Given the description of an element on the screen output the (x, y) to click on. 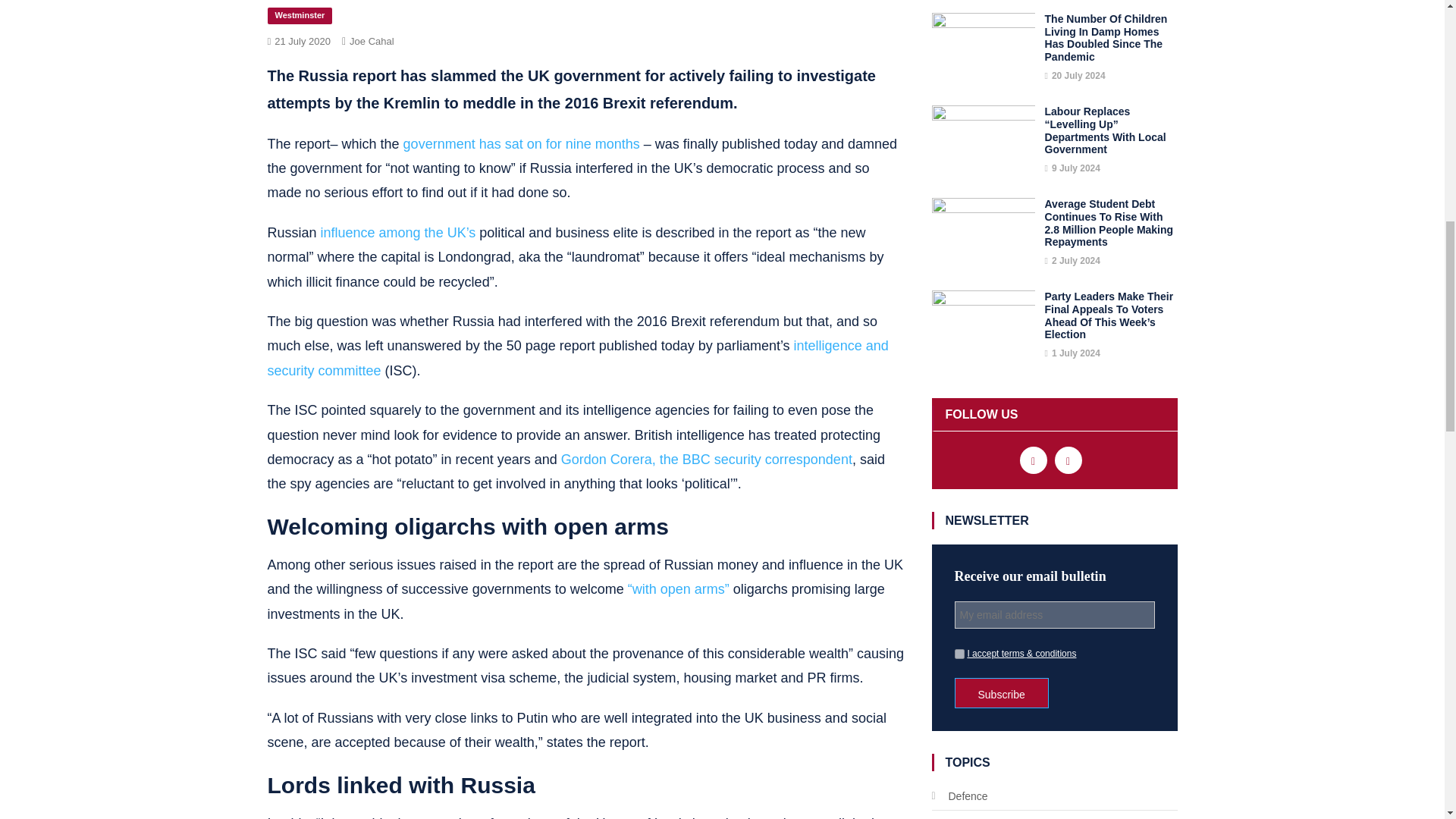
intelligence and security committee (577, 357)
Westminster (298, 15)
1 (958, 654)
Gordon Corera, the BBC security correspondent (705, 459)
Subscribe (1000, 693)
Joe Cahal (371, 40)
21 July 2020 (302, 40)
government has sat on for nine months (521, 143)
